Given the description of an element on the screen output the (x, y) to click on. 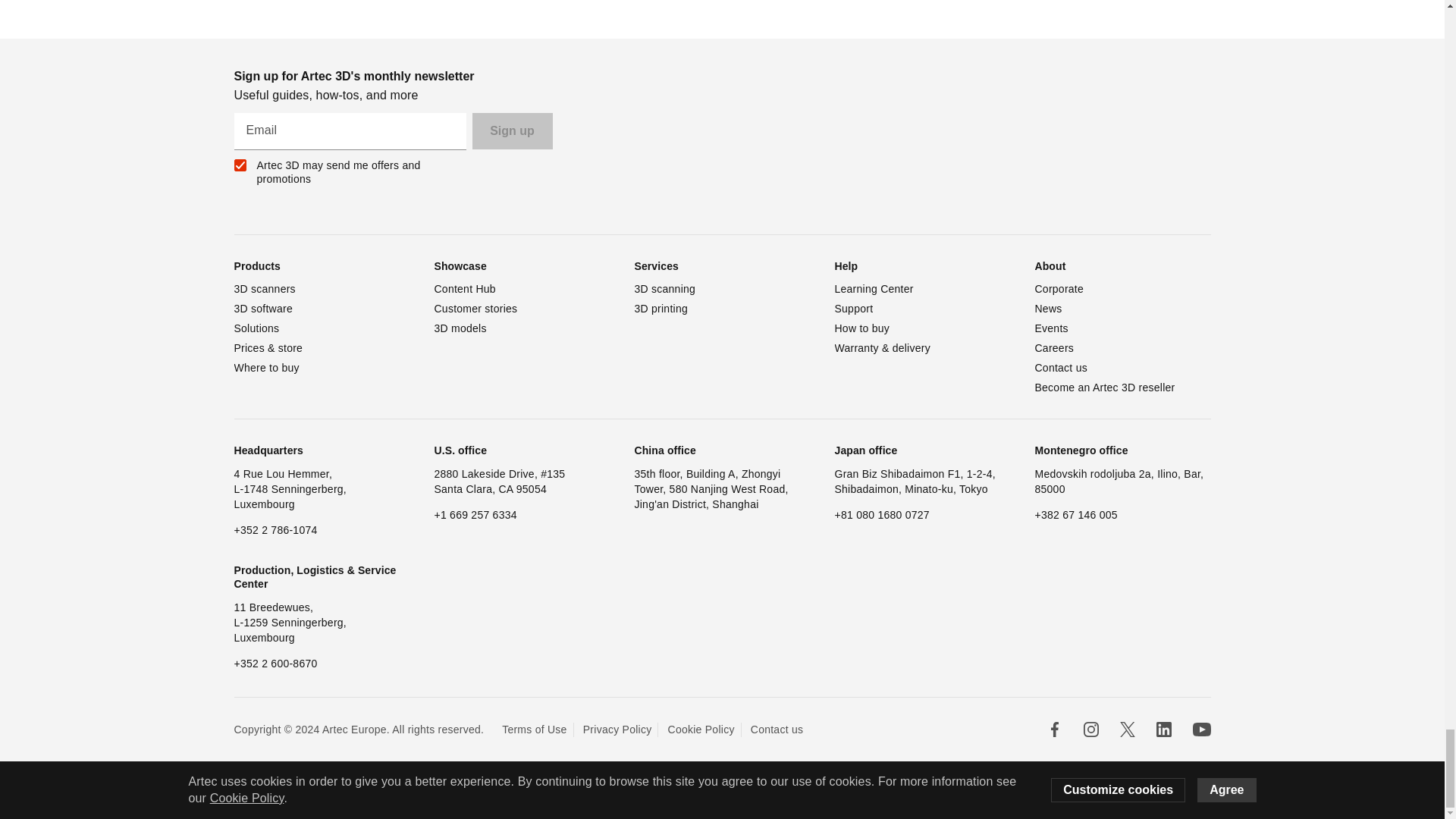
Sign up (511, 131)
